Given the description of an element on the screen output the (x, y) to click on. 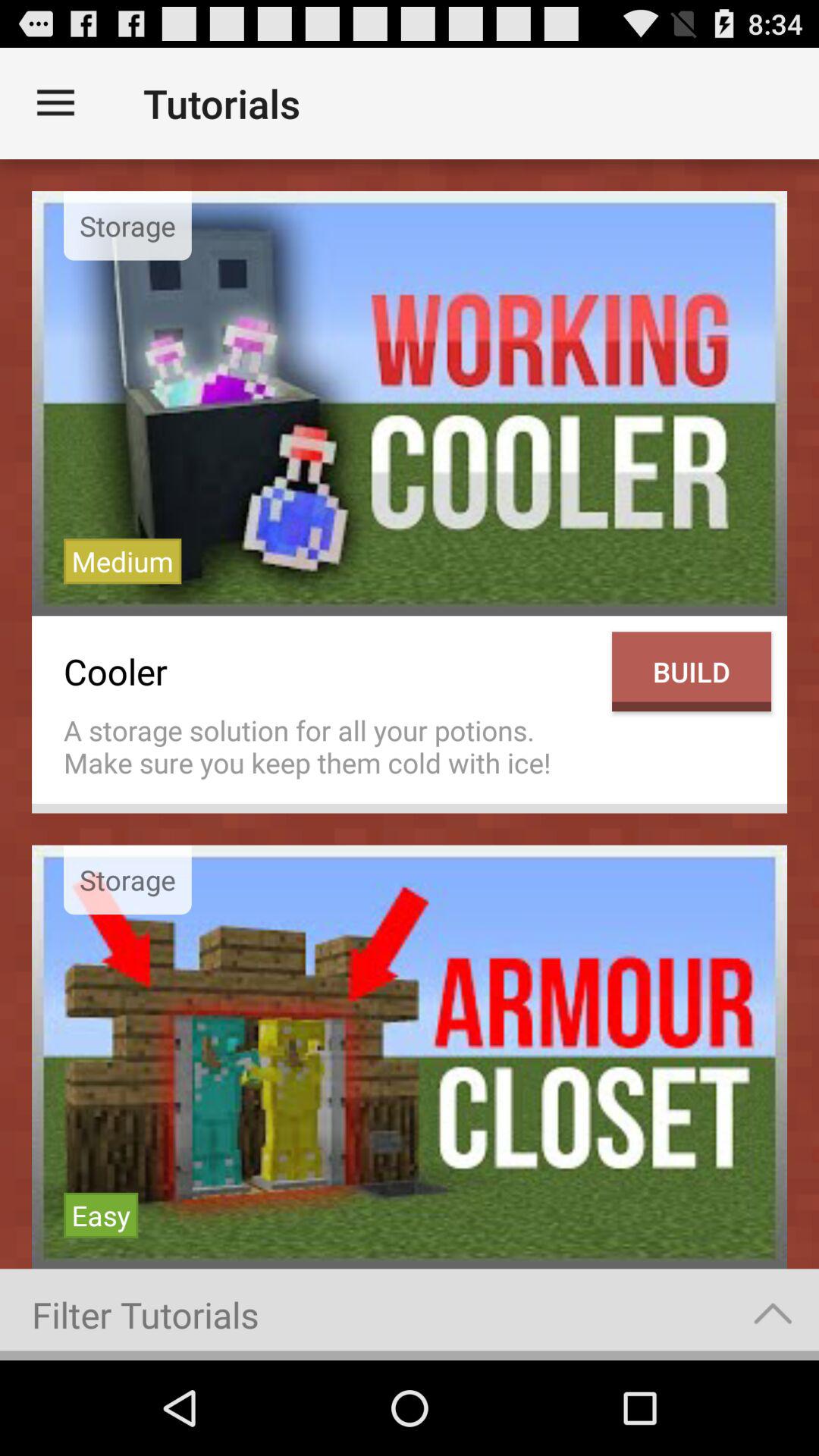
choose icon above the cooler (122, 561)
